Given the description of an element on the screen output the (x, y) to click on. 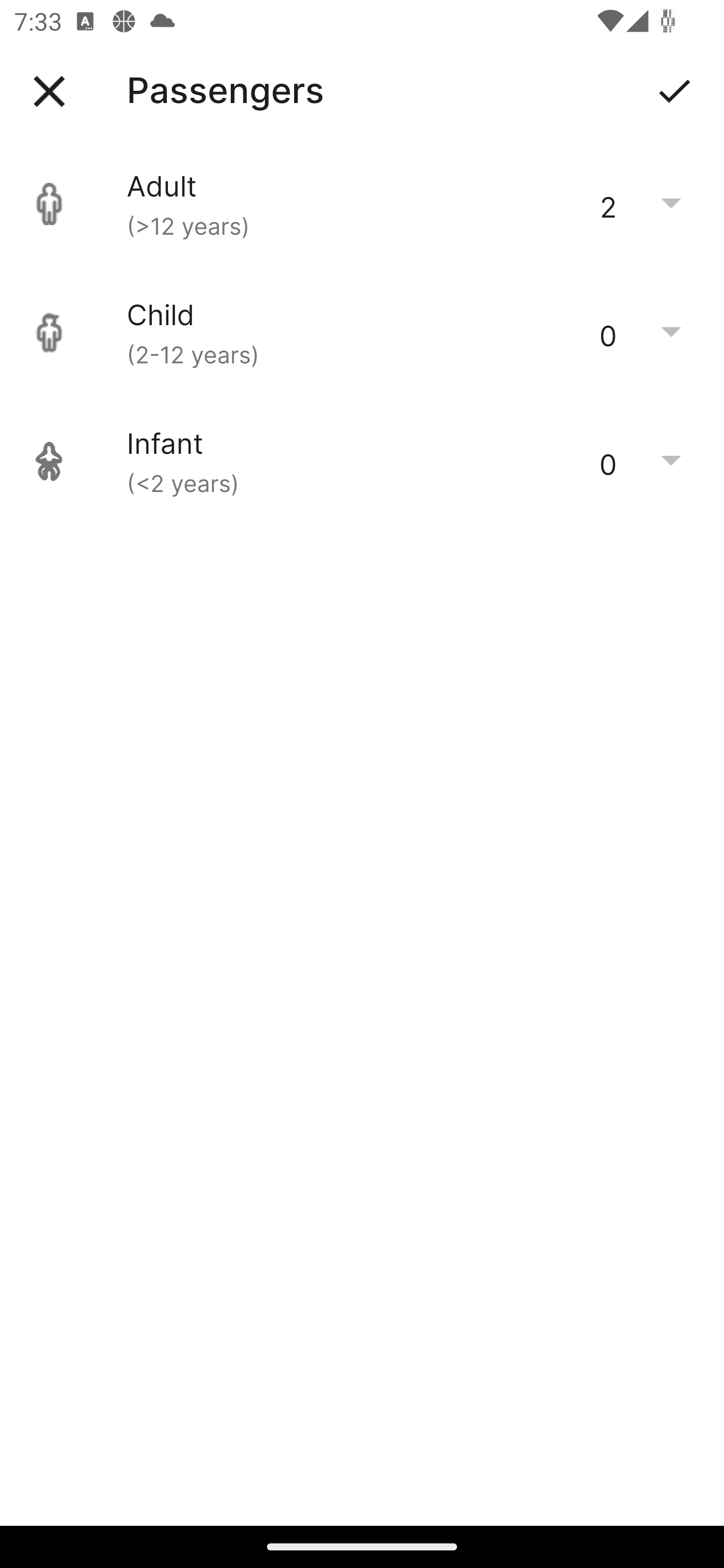
Adult (>12 years) 2 (362, 204)
Child (2-12 years) 0 (362, 332)
Infant (<2 years) 0 (362, 461)
